Given the description of an element on the screen output the (x, y) to click on. 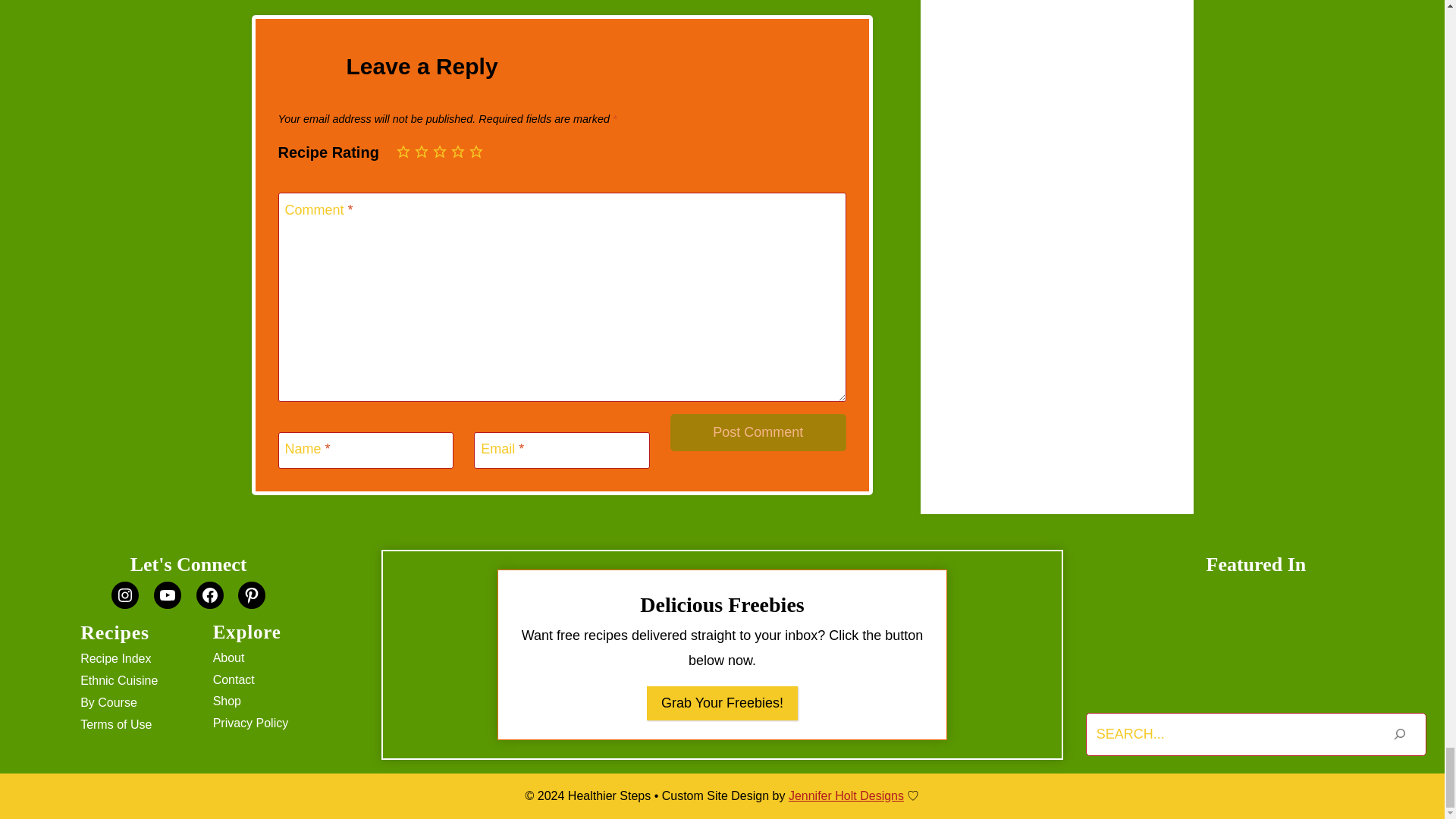
Post Comment (757, 432)
